Given the description of an element on the screen output the (x, y) to click on. 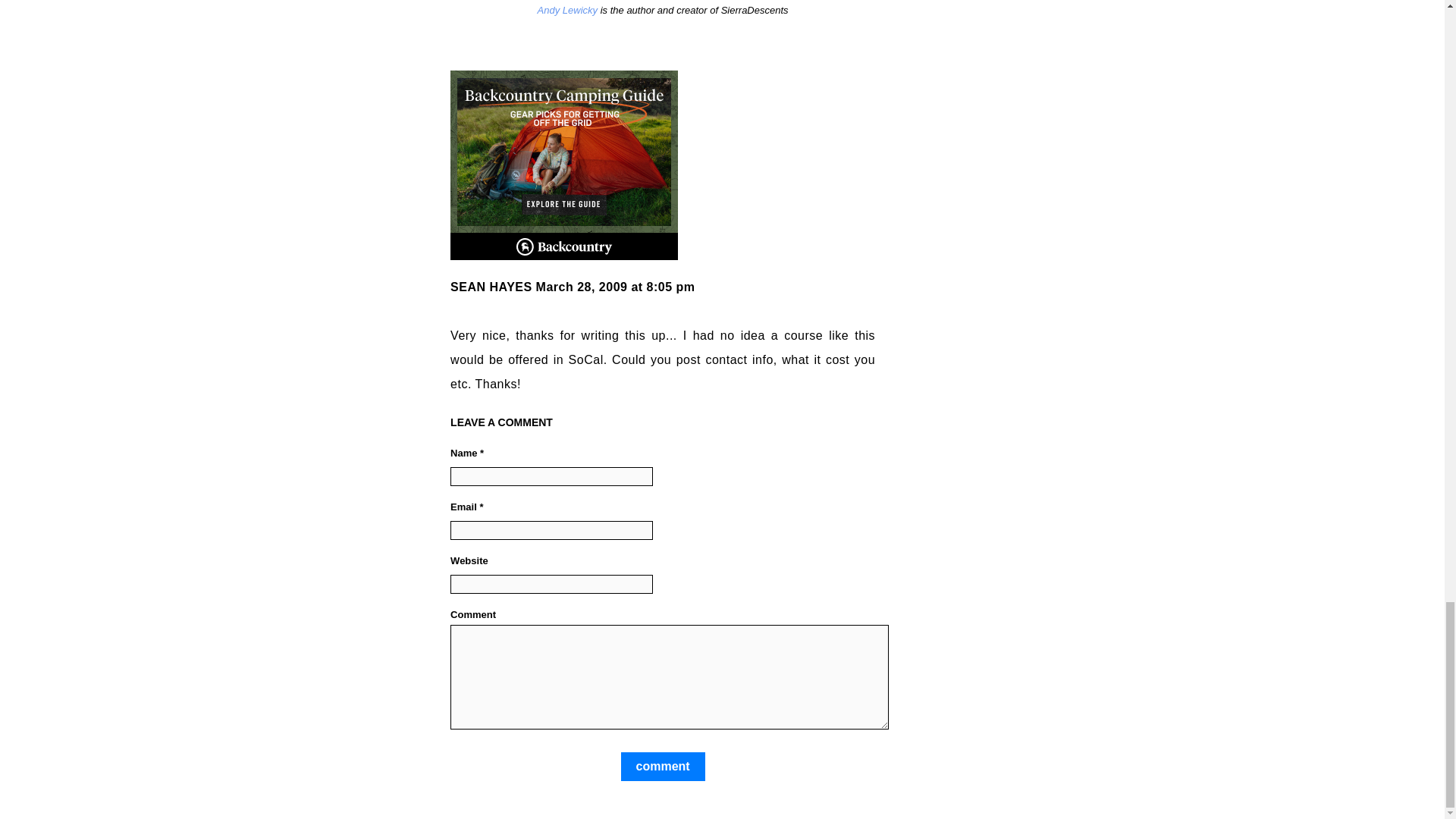
comment (662, 766)
Andy Lewicky (566, 9)
comment (662, 766)
